Given the description of an element on the screen output the (x, y) to click on. 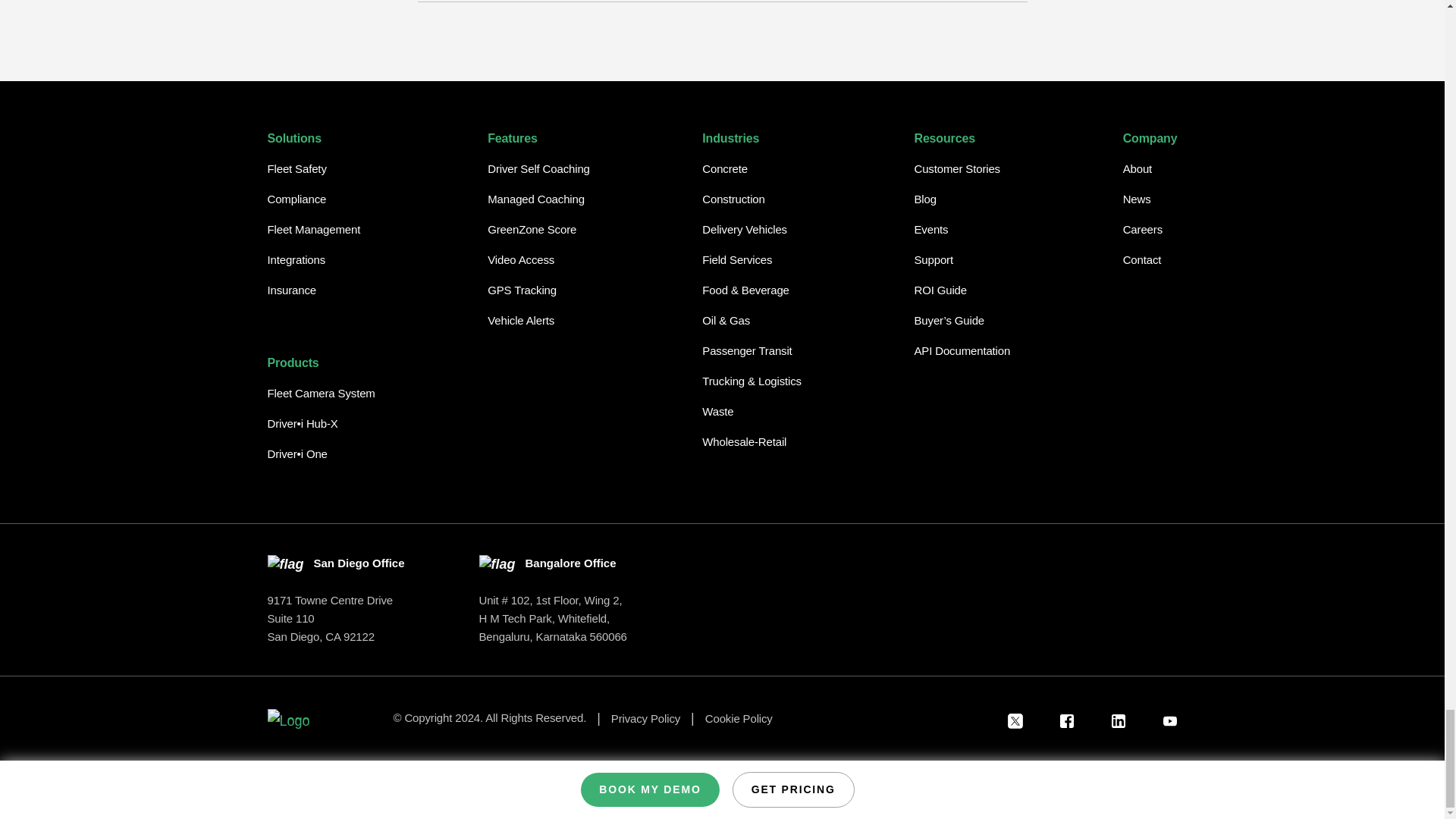
Logo (287, 714)
Logo (287, 721)
